Given the description of an element on the screen output the (x, y) to click on. 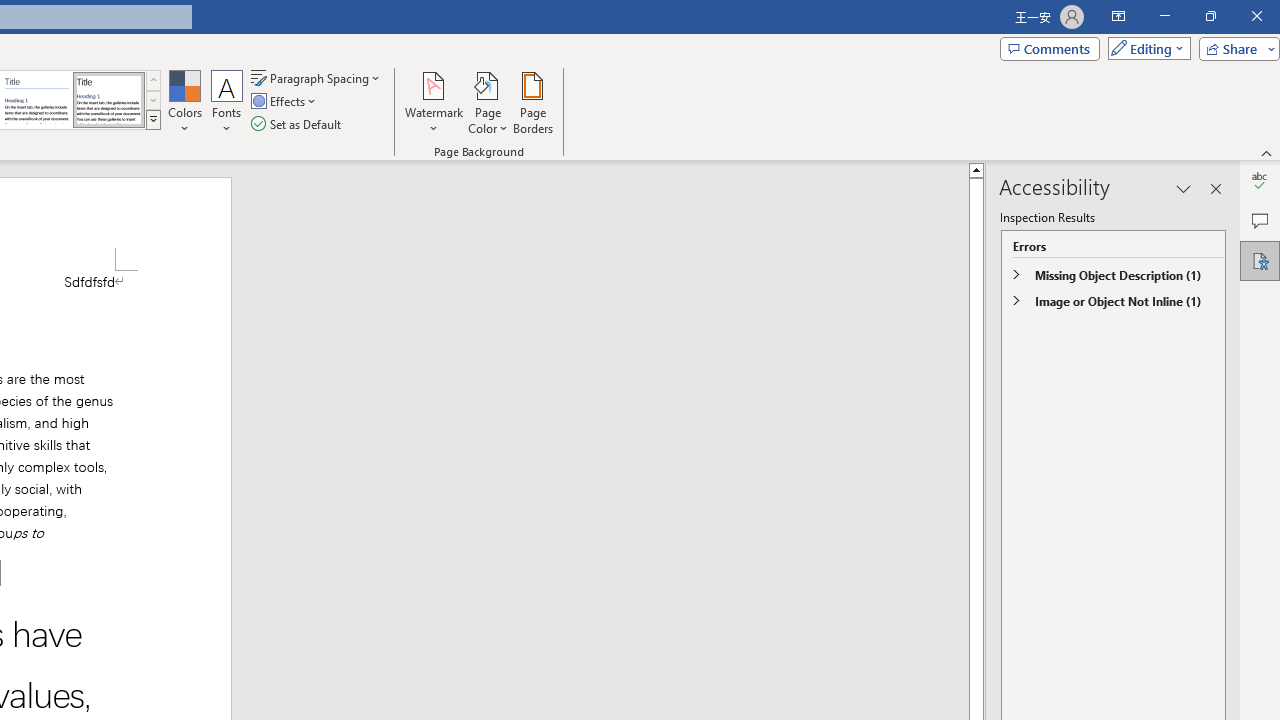
Line up (976, 169)
Page Color (487, 102)
Editing (1144, 47)
Word 2013 (108, 100)
Set as Default (298, 124)
